Given the description of an element on the screen output the (x, y) to click on. 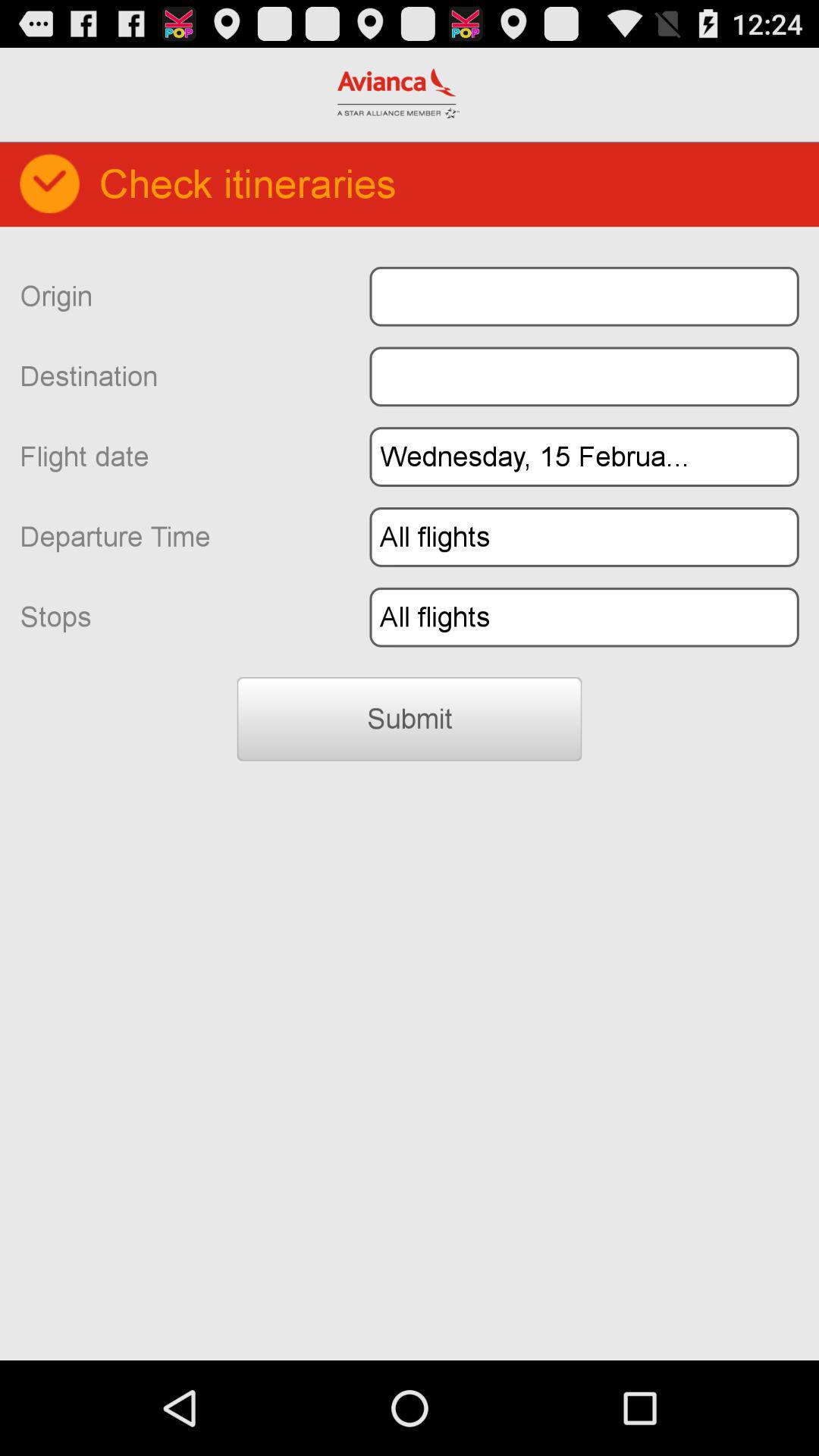
open button above wednesday, 15 februa... (584, 376)
